Given the description of an element on the screen output the (x, y) to click on. 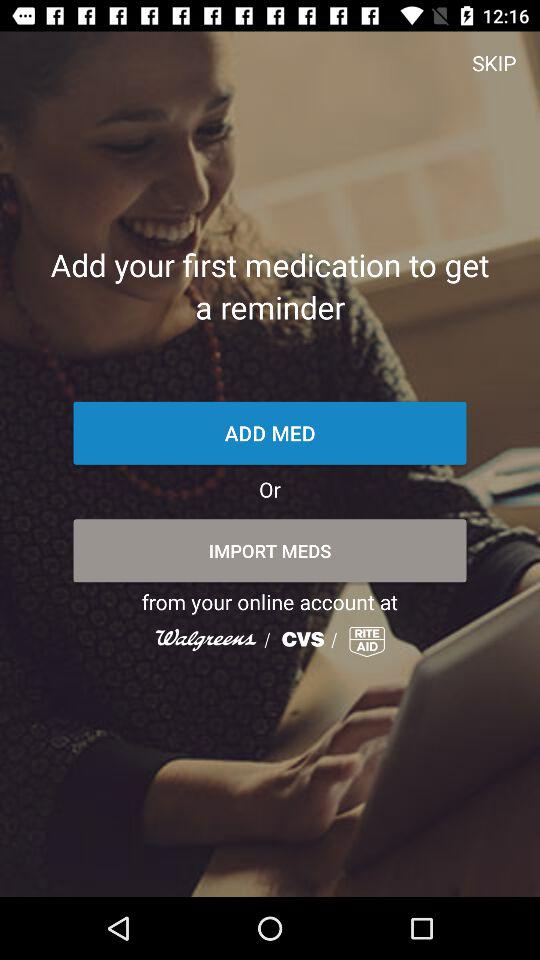
open item above from your online (269, 550)
